Given the description of an element on the screen output the (x, y) to click on. 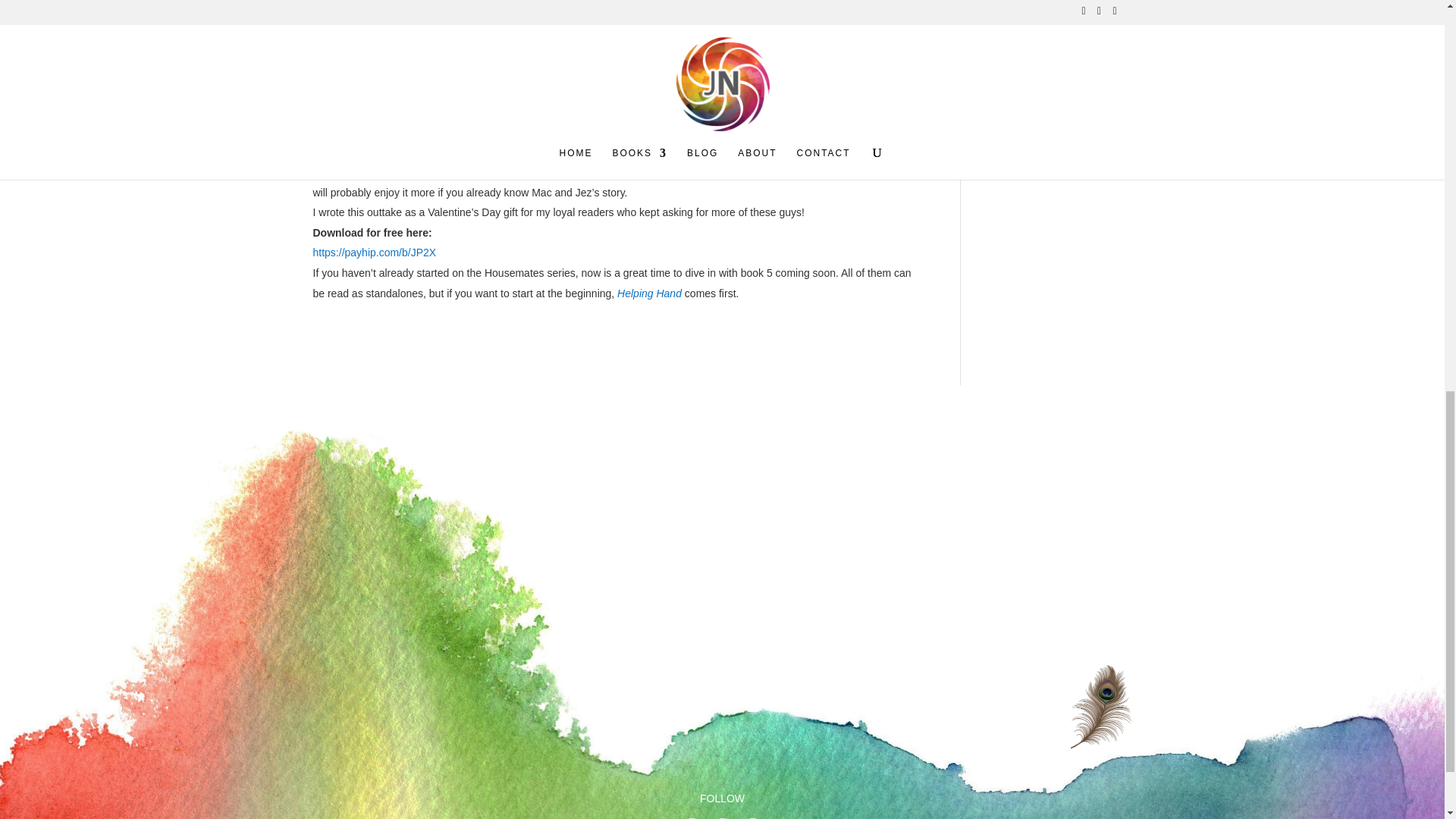
Helping Hand (649, 292)
